Given the description of an element on the screen output the (x, y) to click on. 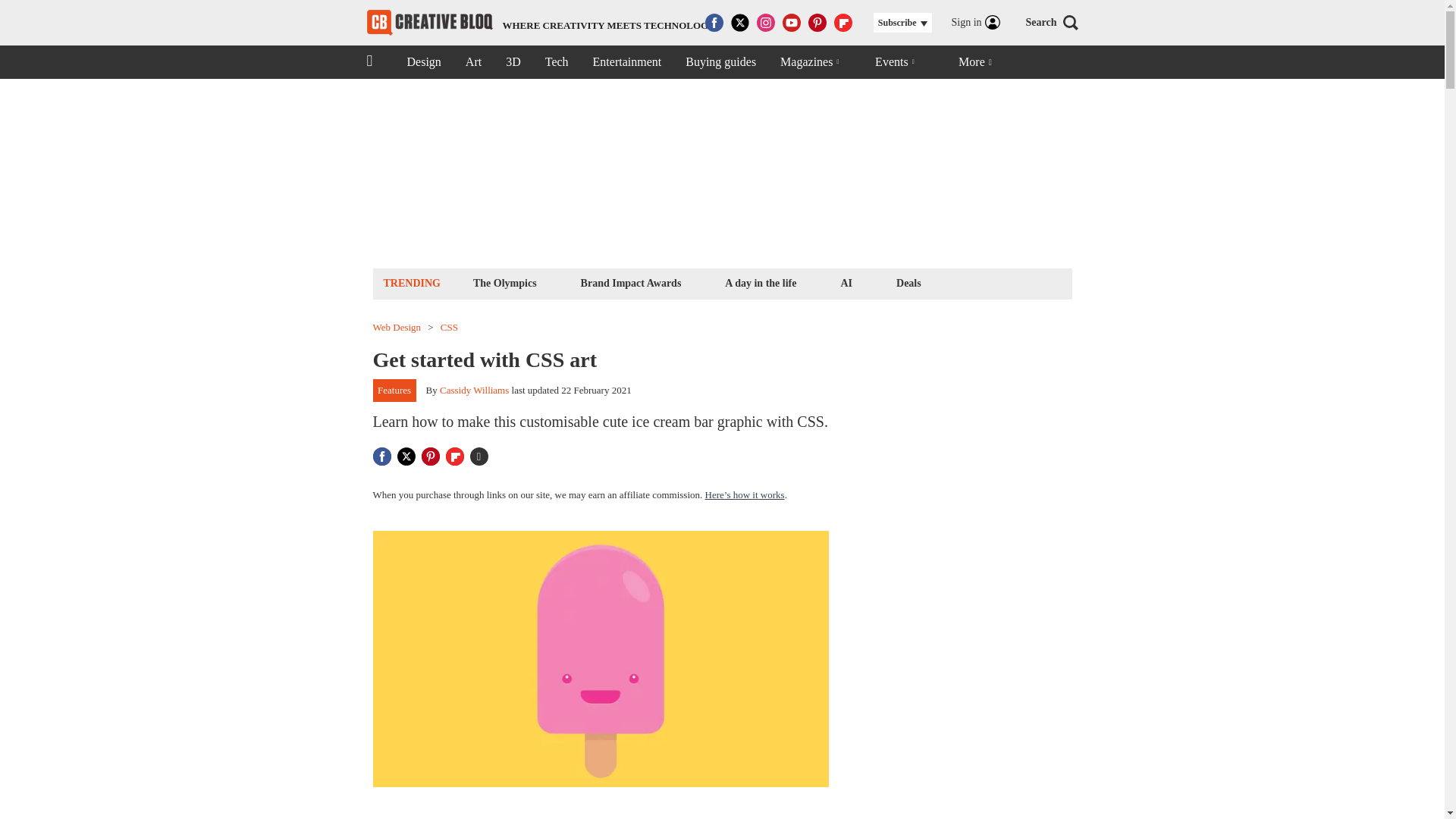
Web Design (397, 327)
Creative Bloq (429, 22)
The Olympics (504, 282)
Deals (908, 282)
Buying guides (720, 61)
Tech (556, 61)
Brand Impact Awards (631, 282)
Art (472, 61)
Design (423, 61)
Features (394, 390)
